Given the description of an element on the screen output the (x, y) to click on. 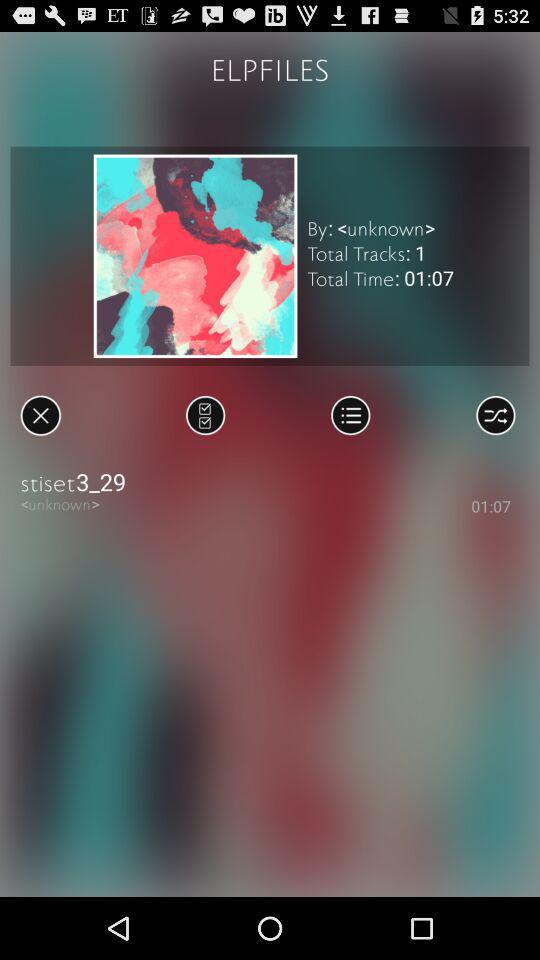
select all songs (205, 415)
